Given the description of an element on the screen output the (x, y) to click on. 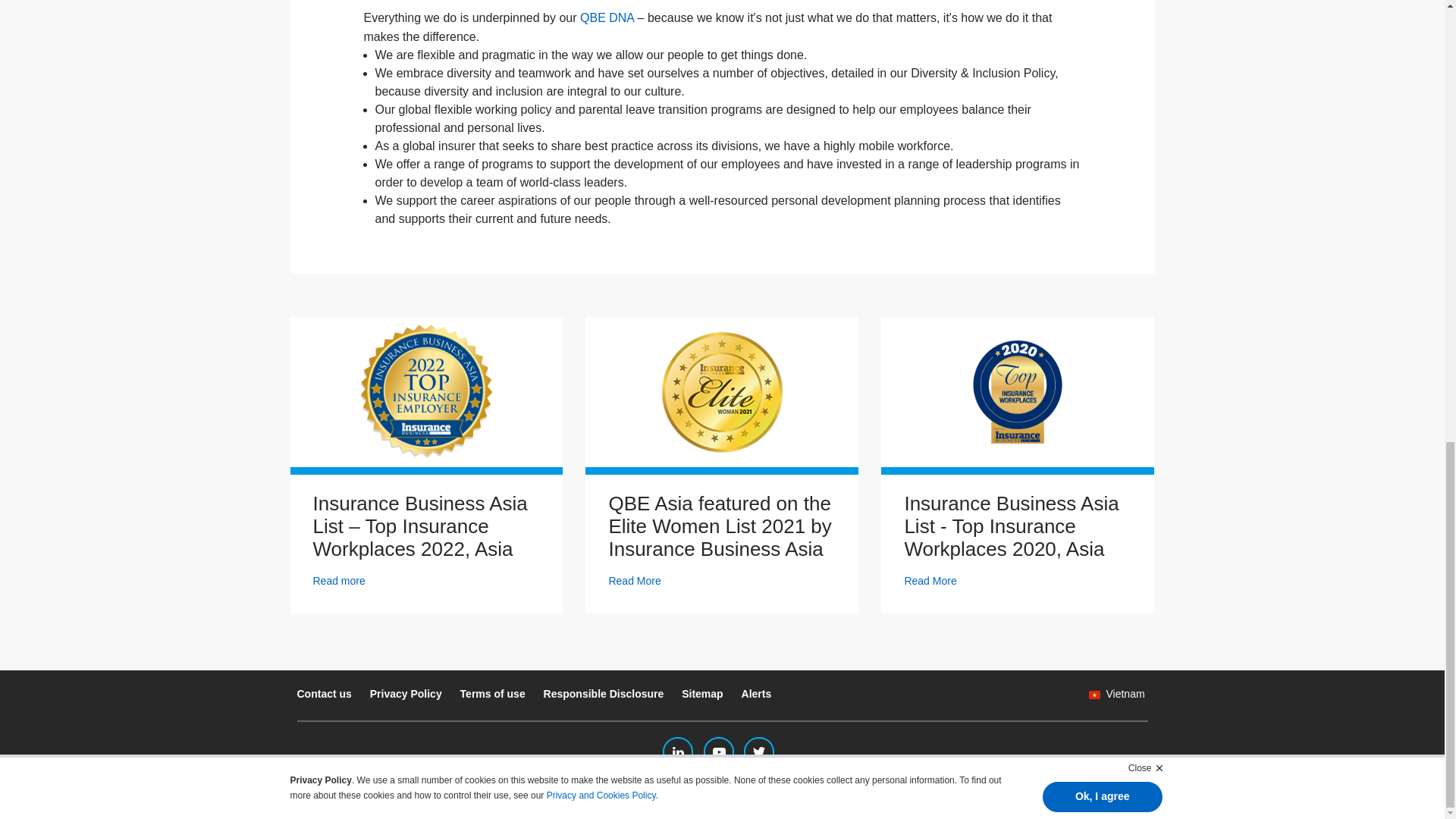
qbe linkedin (677, 752)
qbe twitter (759, 752)
qbe youtube (718, 752)
